Given the description of an element on the screen output the (x, y) to click on. 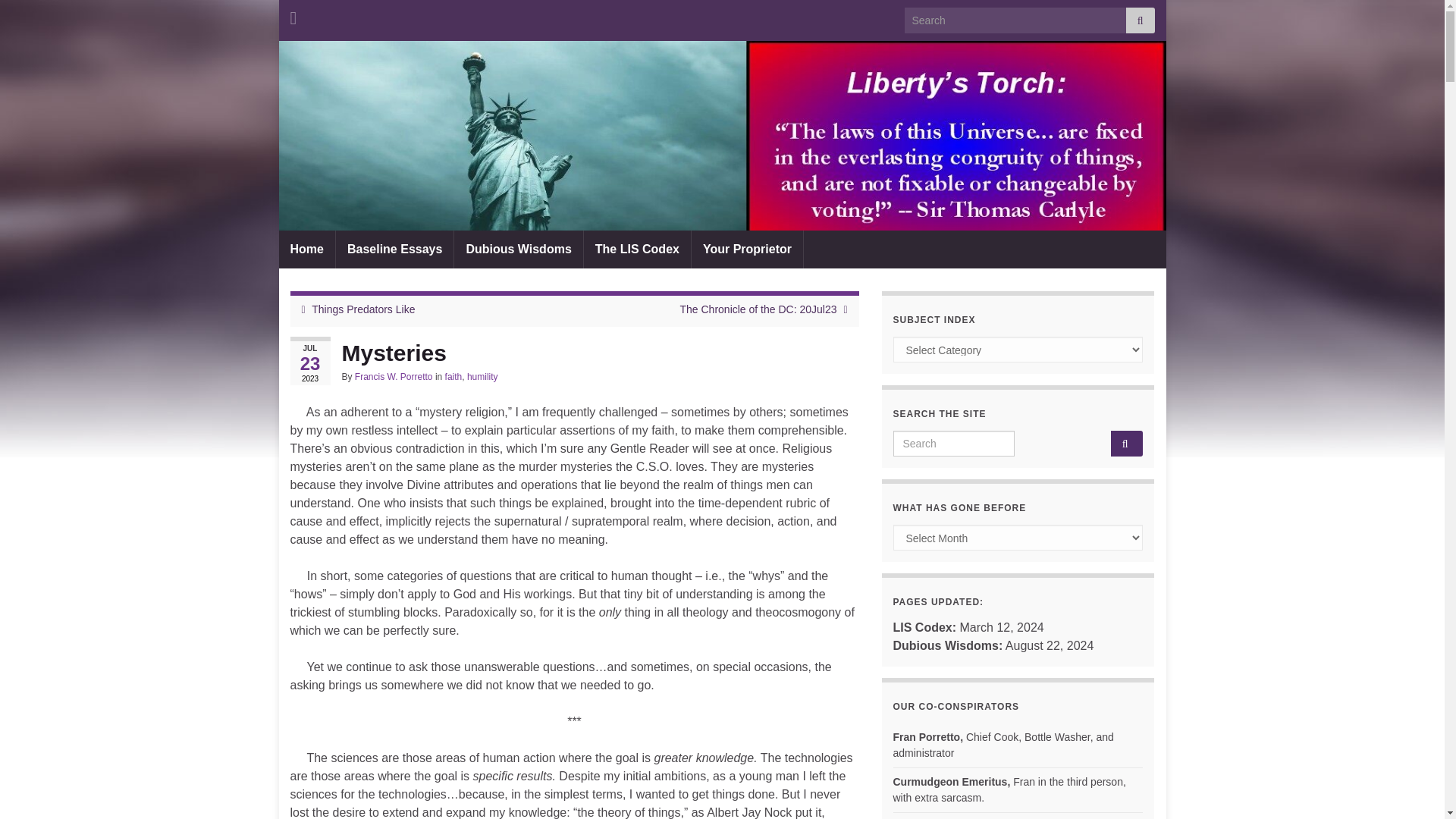
Things Predators Like (362, 309)
faith (454, 376)
The LIS Codex (636, 249)
humility (482, 376)
Francis W. Porretto (393, 376)
The Chronicle of the DC: 20Jul23 (757, 309)
Home (306, 249)
Baseline Essays (394, 249)
Your Proprietor (747, 249)
